Given the description of an element on the screen output the (x, y) to click on. 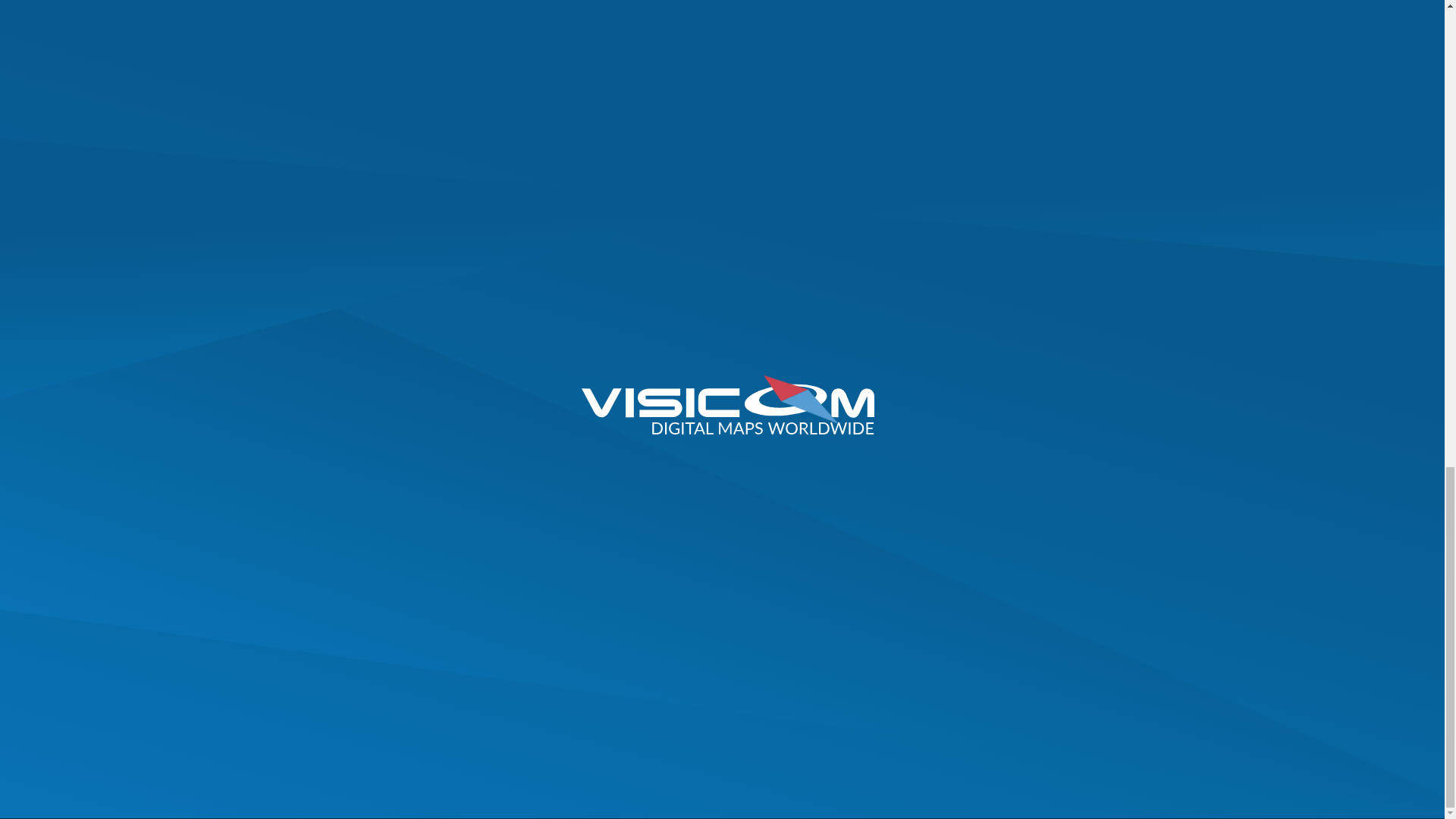
Send (1034, 431)
Back to all news (474, 176)
Privacy Policy (1114, 464)
